Given the description of an element on the screen output the (x, y) to click on. 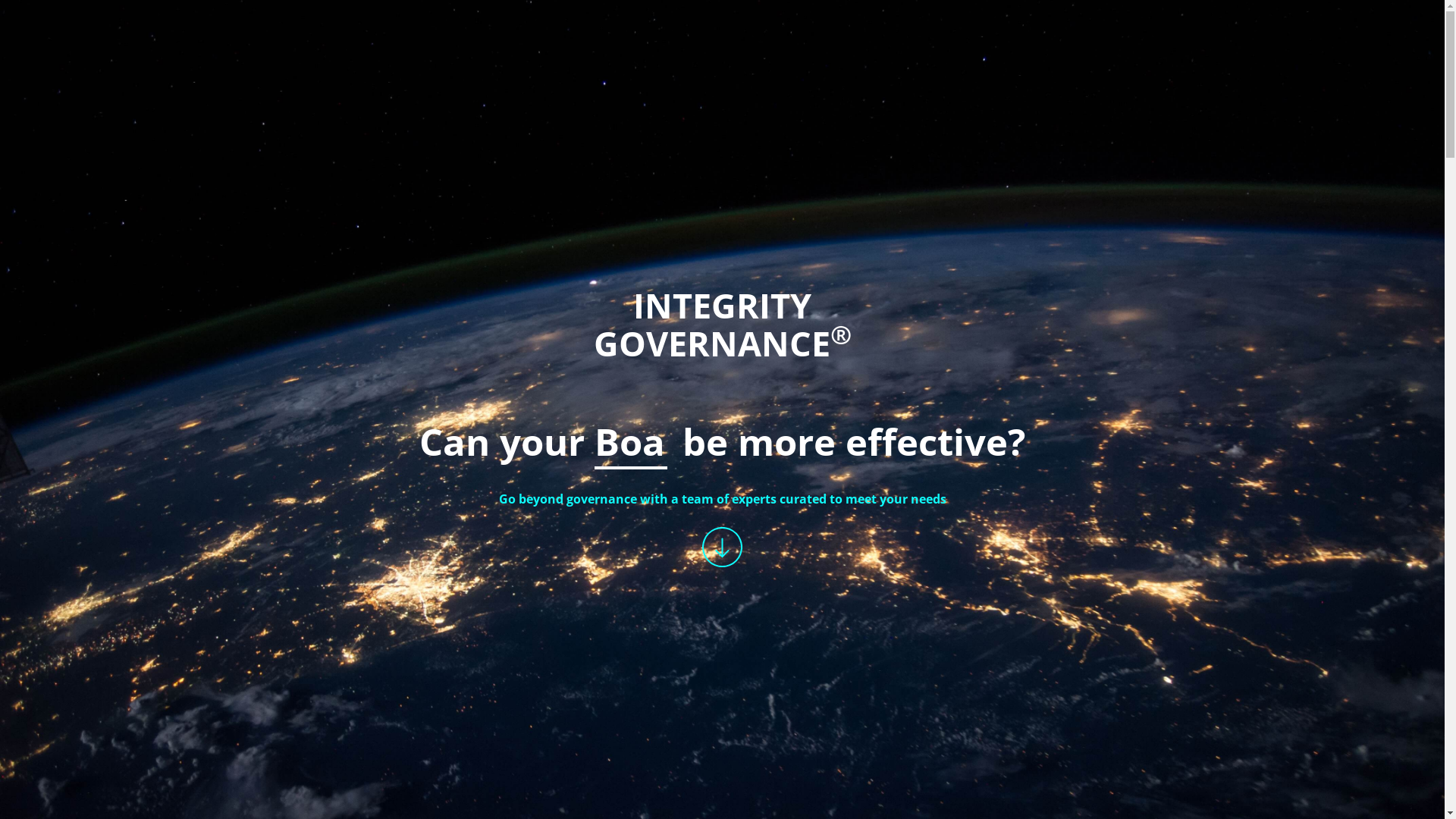
Skip to content Element type: text (1443, 0)
